Given the description of an element on the screen output the (x, y) to click on. 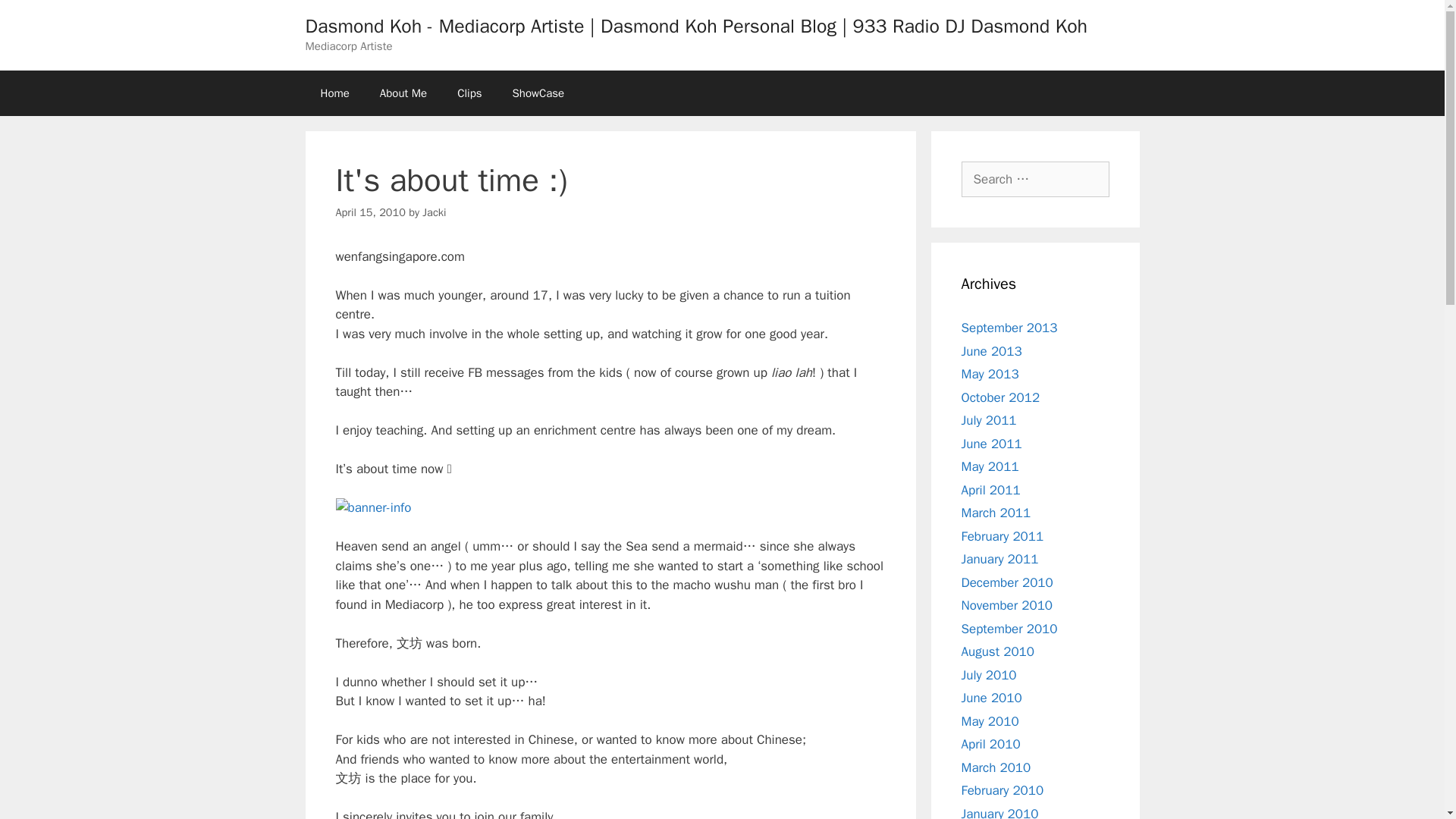
November 2010 (1006, 605)
June 2011 (991, 442)
Jacki (433, 212)
June 2010 (991, 697)
ShowCase (538, 92)
October 2012 (1000, 397)
May 2013 (989, 374)
August 2010 (996, 651)
April 2010 (990, 744)
May 2011 (989, 466)
May 2010 (989, 720)
March 2011 (995, 512)
Search (35, 18)
September 2013 (1009, 327)
April 2011 (990, 489)
